Given the description of an element on the screen output the (x, y) to click on. 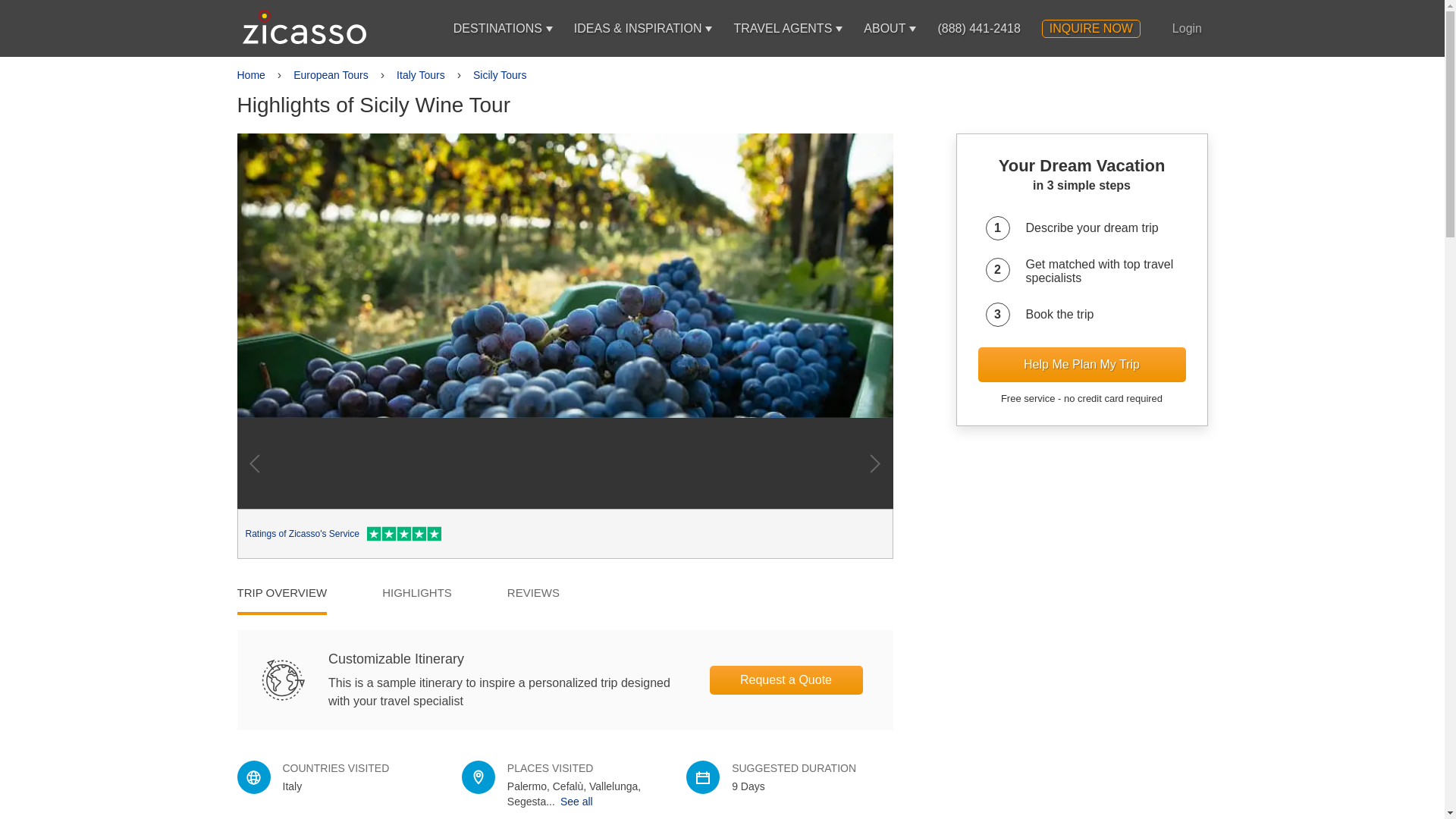
INQUIRE NOW (1091, 28)
Login (1187, 28)
TRAVEL AGENTS (782, 28)
Zicasso Logo (304, 26)
